Given the description of an element on the screen output the (x, y) to click on. 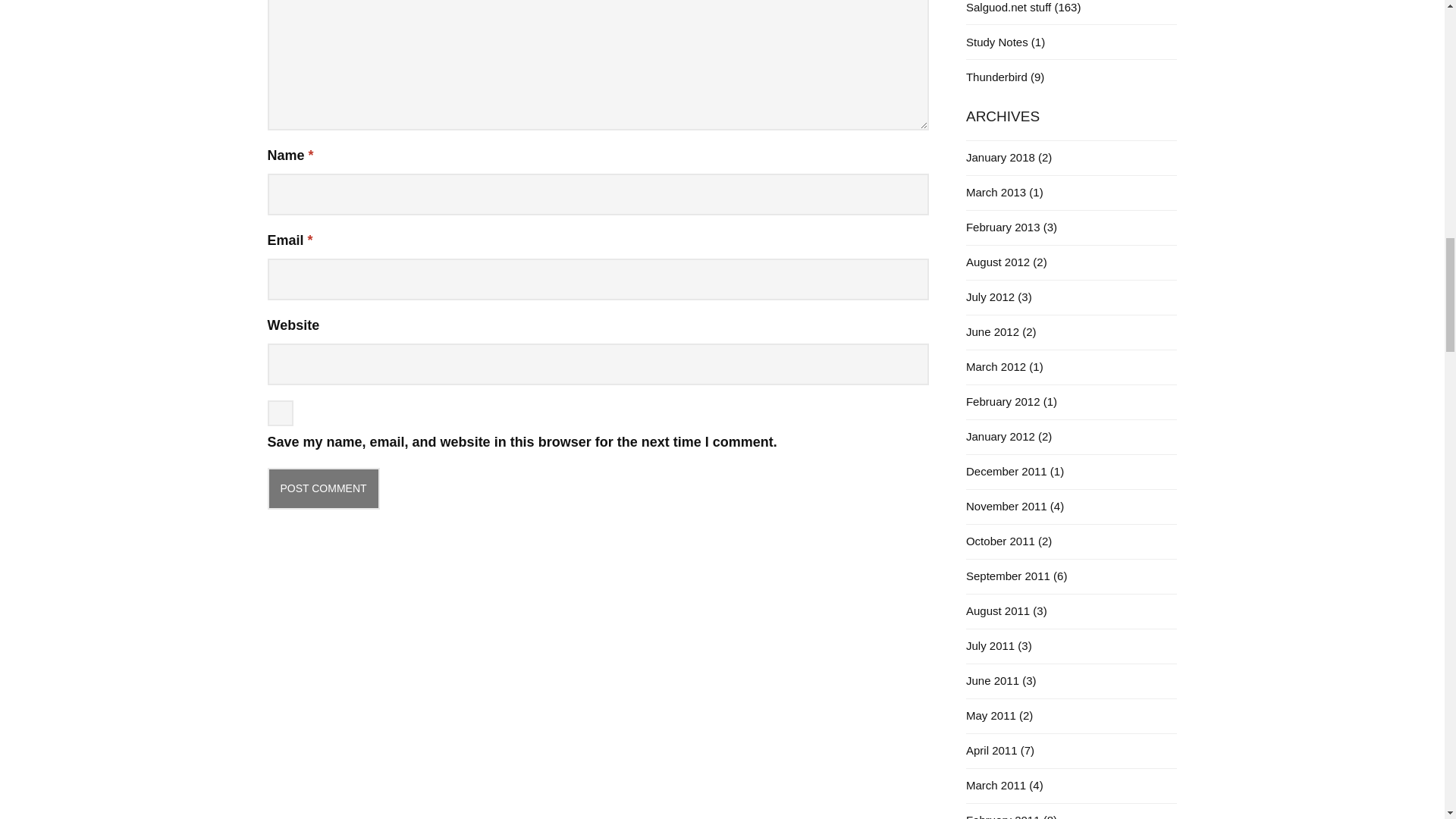
Post Comment (322, 488)
yes (279, 412)
Post Comment (322, 488)
